Given the description of an element on the screen output the (x, y) to click on. 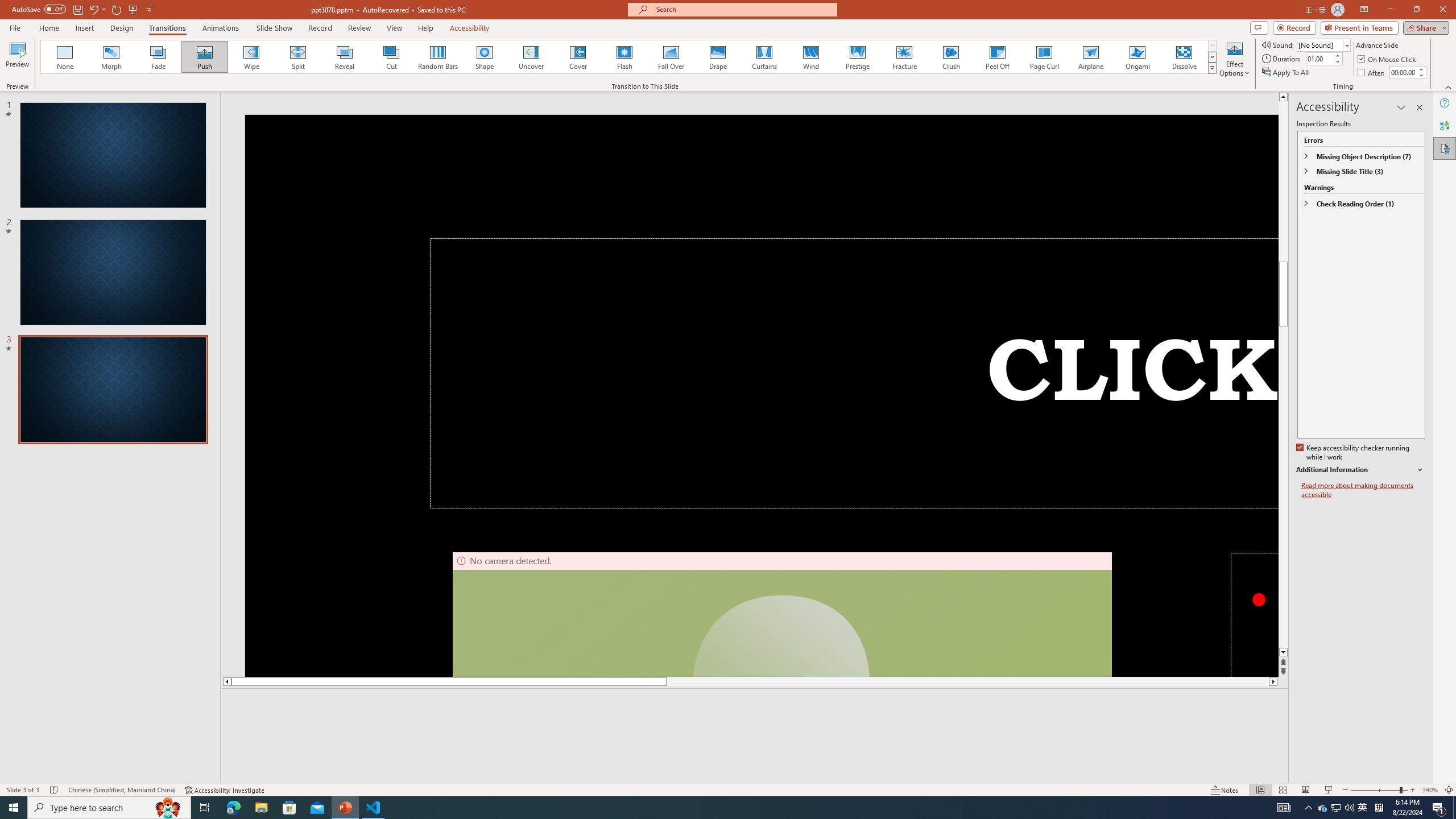
Random Bars (437, 56)
Content Placeholder (1338, 289)
Additional Information (1360, 469)
Shape (484, 56)
Flash (624, 56)
Crush (950, 56)
